Given the description of an element on the screen output the (x, y) to click on. 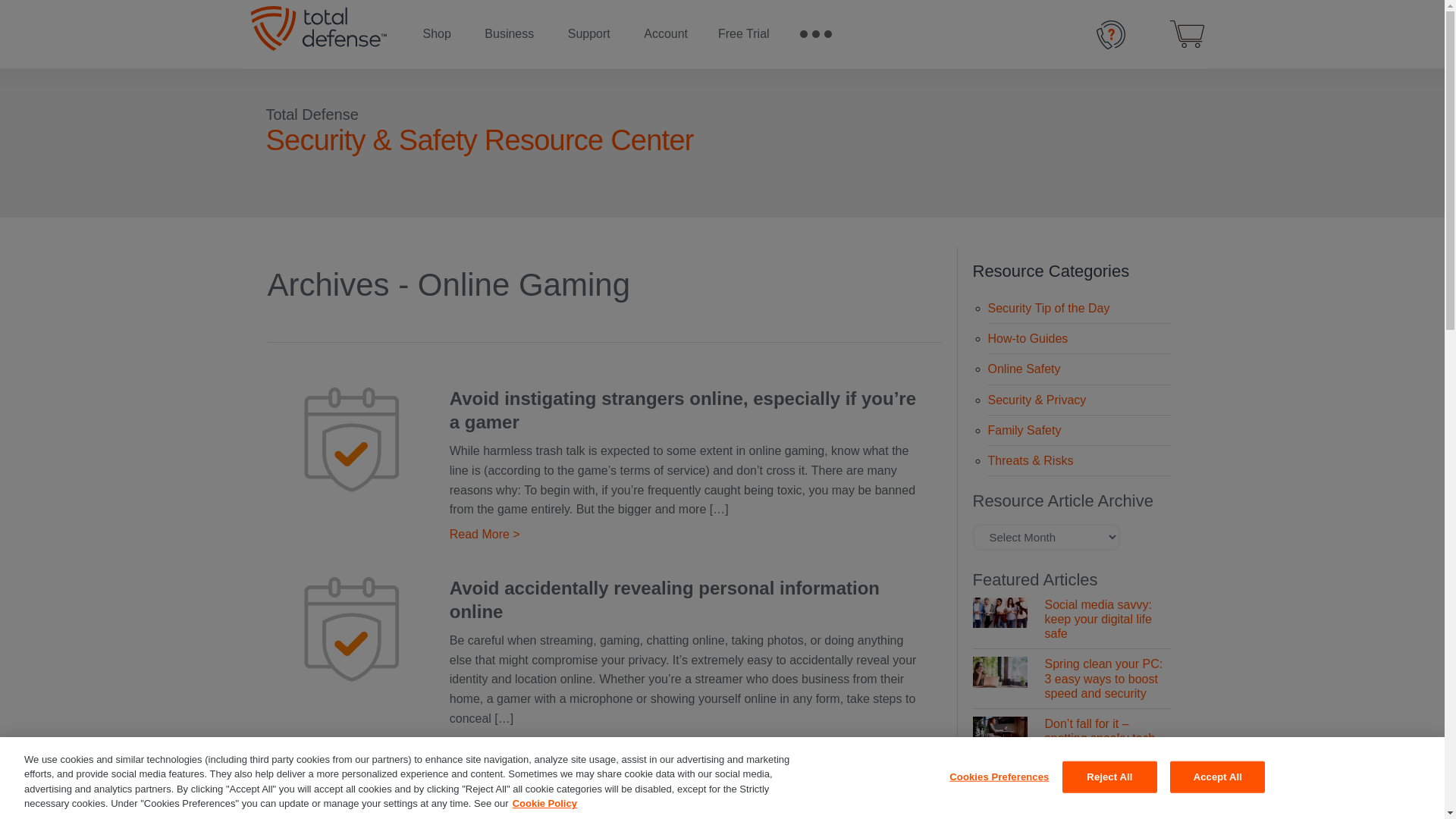
Support (589, 34)
Opens a widget where you can find more information (1386, 792)
Business (508, 34)
Free Trial (743, 34)
Account (665, 34)
